Given the description of an element on the screen output the (x, y) to click on. 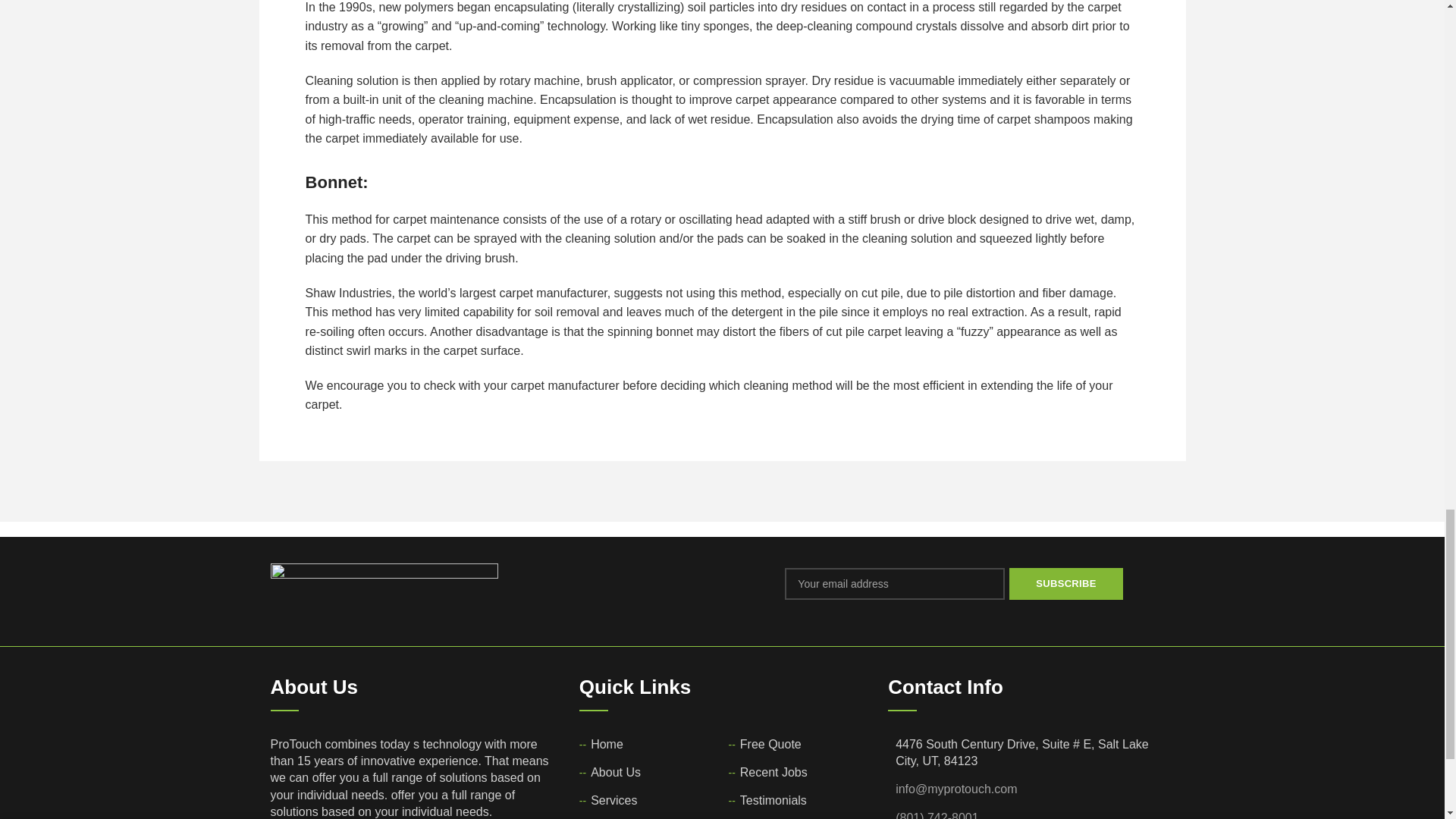
Recent Jobs (774, 772)
Home (607, 744)
Free Quote (771, 744)
Services (615, 800)
Testimonials (773, 800)
About Us (616, 772)
Subscribe (1065, 583)
Subscribe (1065, 583)
